Given the description of an element on the screen output the (x, y) to click on. 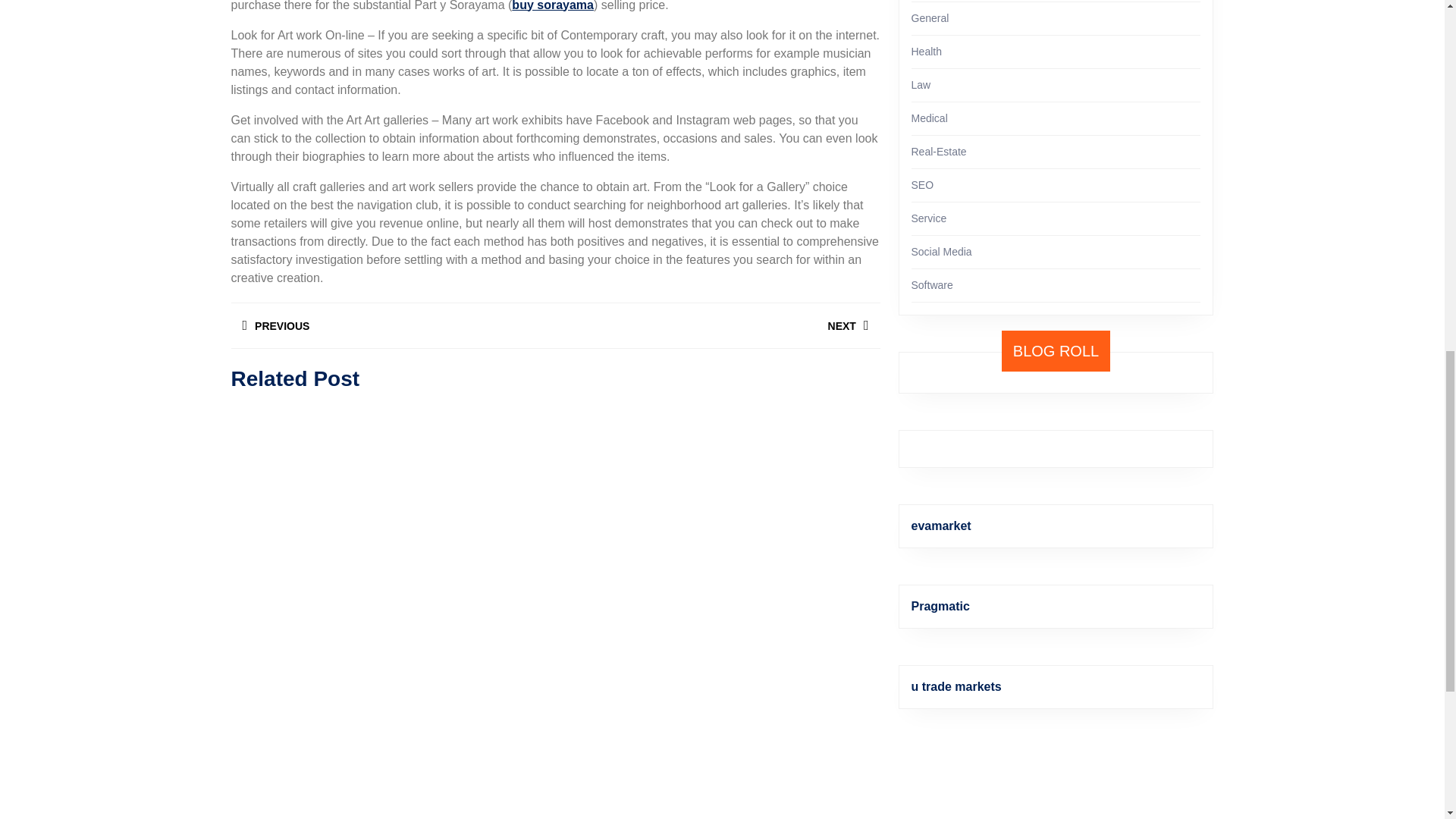
buy sorayama (716, 325)
